Given the description of an element on the screen output the (x, y) to click on. 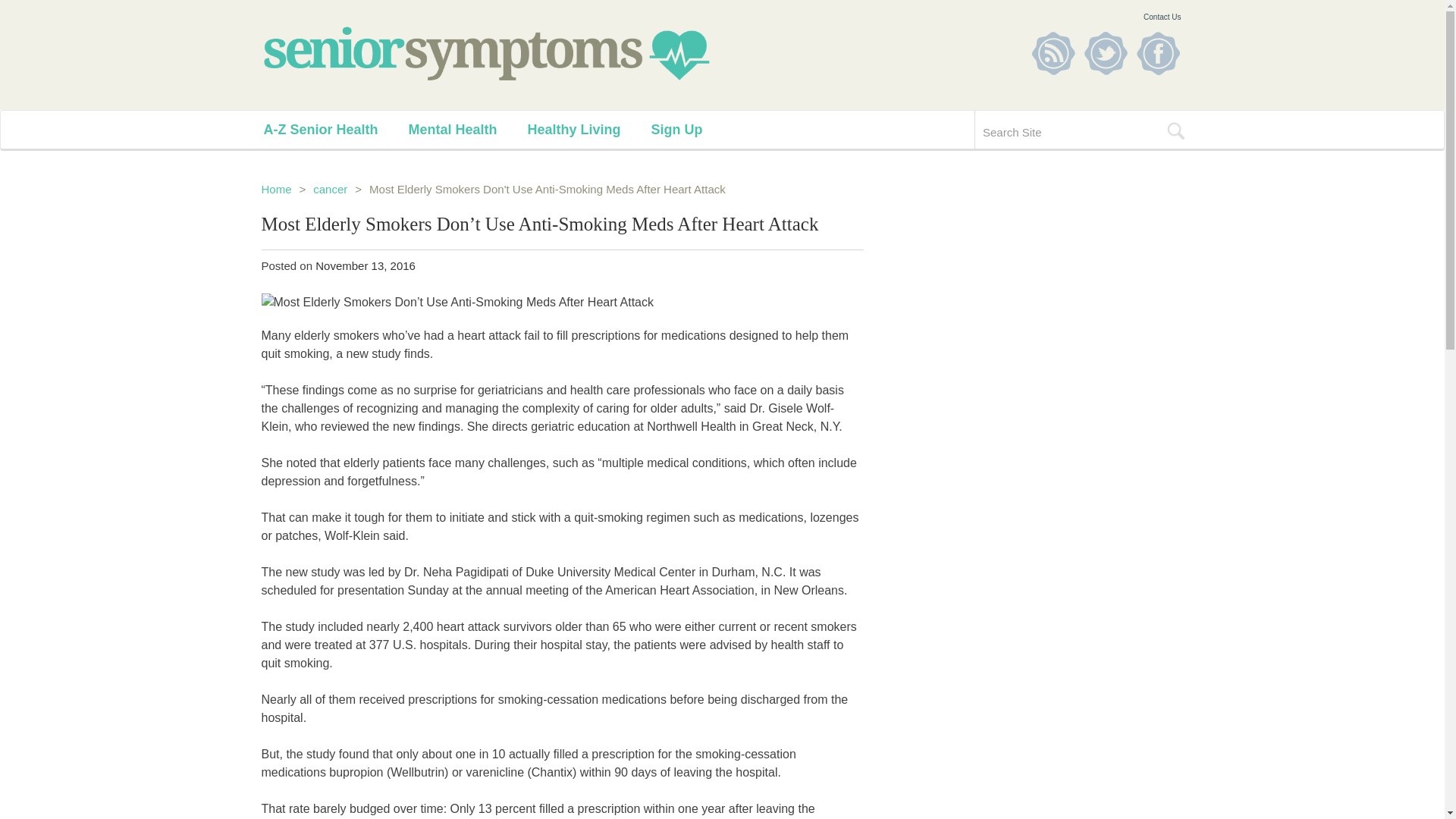
Twitter (1106, 53)
RSS (1052, 53)
Home (275, 188)
cancer (330, 188)
Contact Us (1161, 17)
A-Z Senior Health (336, 129)
November 13, 2016 (364, 265)
Facebook (1157, 53)
Sign Up (691, 129)
Healthy Living (588, 129)
